Given the description of an element on the screen output the (x, y) to click on. 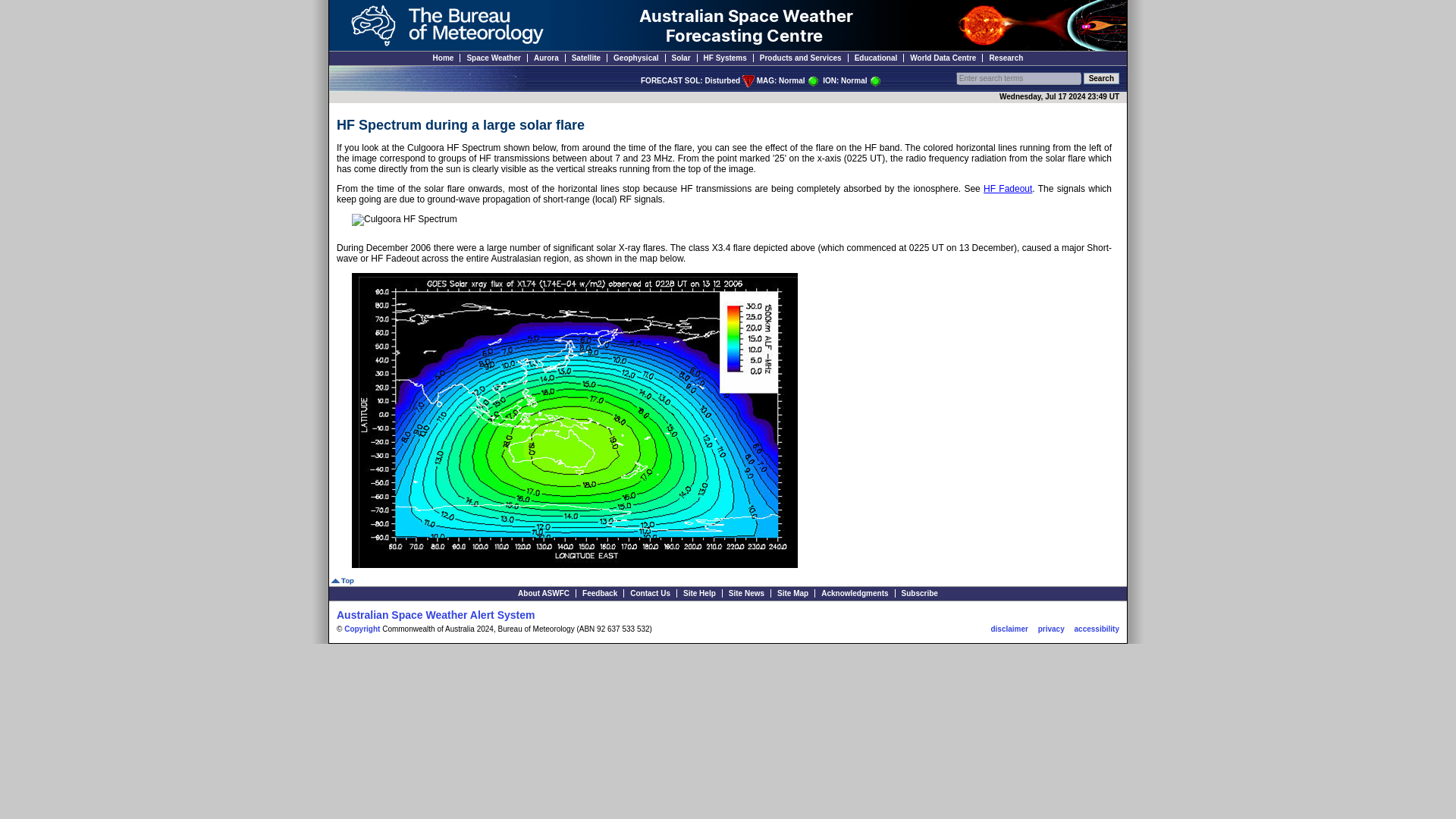
Aurora (546, 58)
Research (1005, 58)
Products and Services (800, 58)
The Bureau of Meteorology Space Weather Home Page (443, 58)
Site Help (699, 592)
Research - Research area and interests in ASWFC (1005, 58)
A summary of current Space Weather conditions (493, 58)
About ASWFC - what we do and why we do it (543, 592)
Solar - Solar observations; visual and radio (680, 58)
Subscribe (919, 592)
World Data Centre (942, 58)
Educational - material about Space Weather (876, 58)
Feedback - feedback form (599, 592)
